Given the description of an element on the screen output the (x, y) to click on. 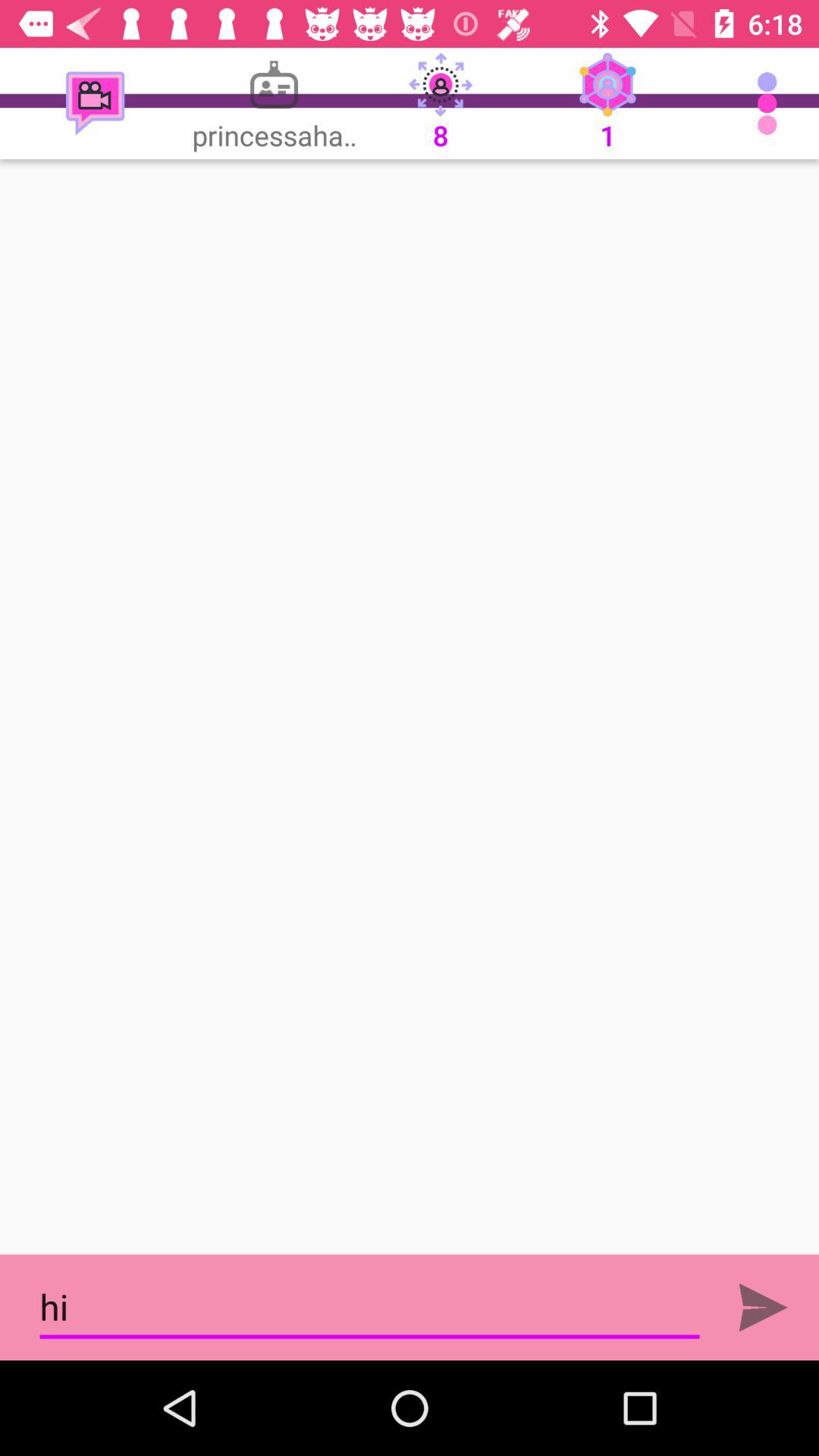
screen page (409, 706)
